Given the description of an element on the screen output the (x, y) to click on. 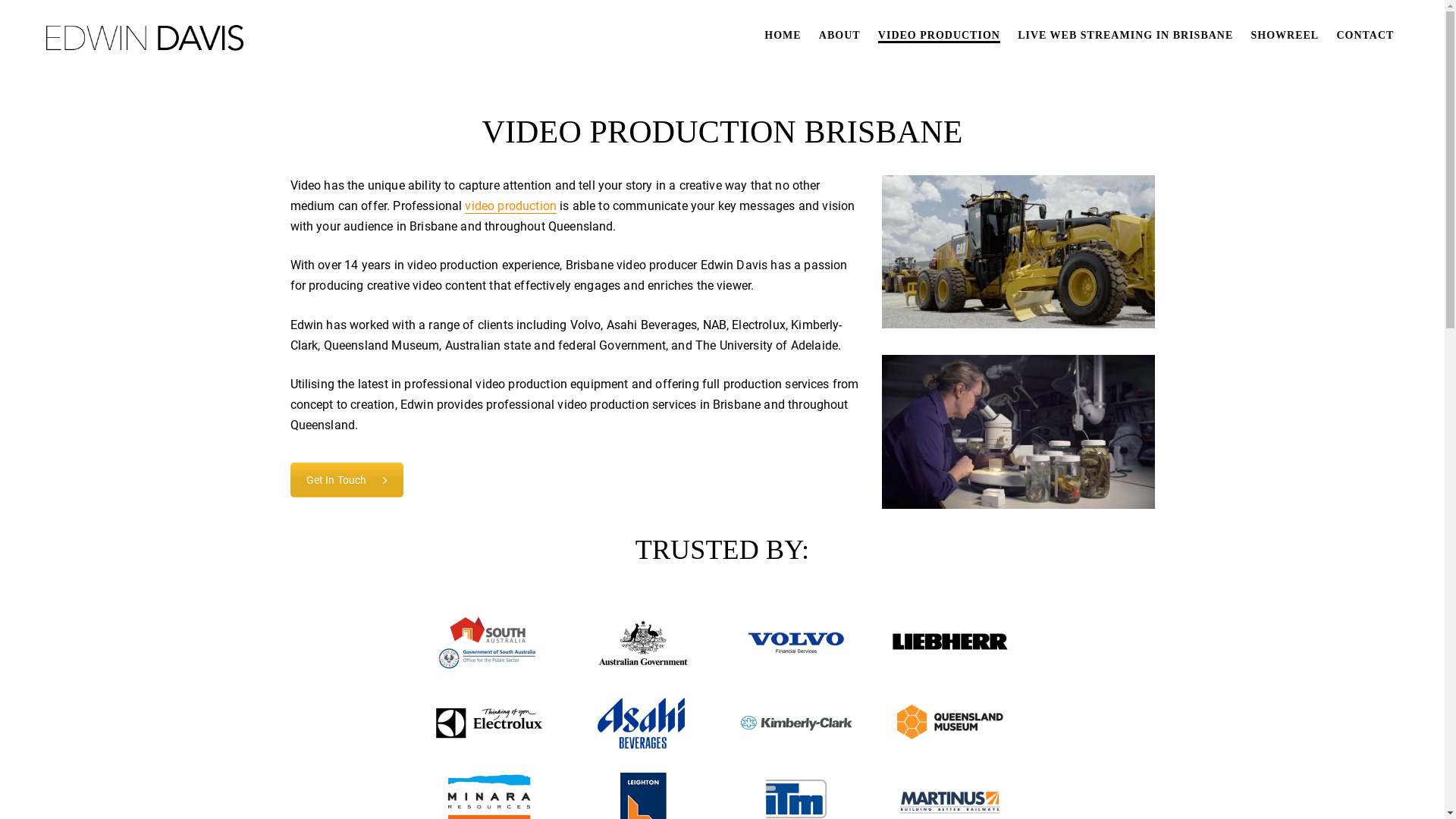
SHOWREEL Element type: text (1285, 35)
Get In Touch Element type: text (346, 479)
ABOUT Element type: text (839, 35)
HOME Element type: text (782, 35)
CONTACT Element type: text (1364, 35)
LIVE WEB STREAMING IN BRISBANE Element type: text (1125, 35)
video production Element type: text (510, 205)
VIDEO PRODUCTION Element type: text (939, 36)
